Given the description of an element on the screen output the (x, y) to click on. 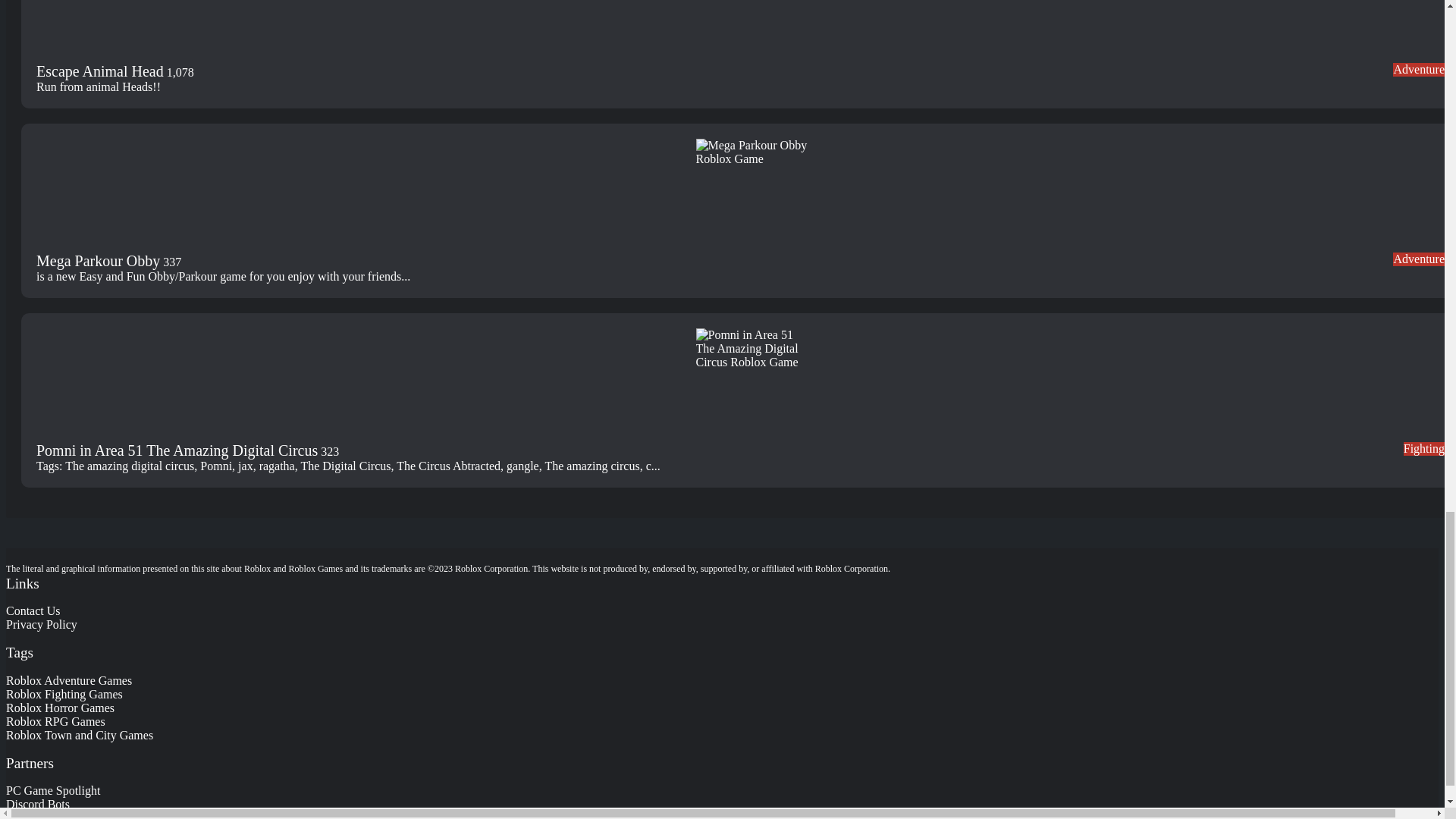
Privacy Policy (41, 624)
Roblox RPG Games (54, 721)
Mega Parkour Obby (98, 261)
Pomni in Area 51 The Amazing Digital Circus Roblox Game (752, 385)
Fighting (1423, 448)
Mega Parkour Obby Roblox Game (752, 195)
Escape Animal Head Roblox Game (752, 31)
Pomni in Area 51 The Amazing Digital Circus (176, 451)
Adventure (1418, 259)
Roblox Fighting Games (63, 694)
PC Game Spotlight (52, 789)
Roblox Horror Games (60, 707)
Discord Bots (37, 803)
Roblox Town and City Games (78, 735)
Adventure (1418, 69)
